Given the description of an element on the screen output the (x, y) to click on. 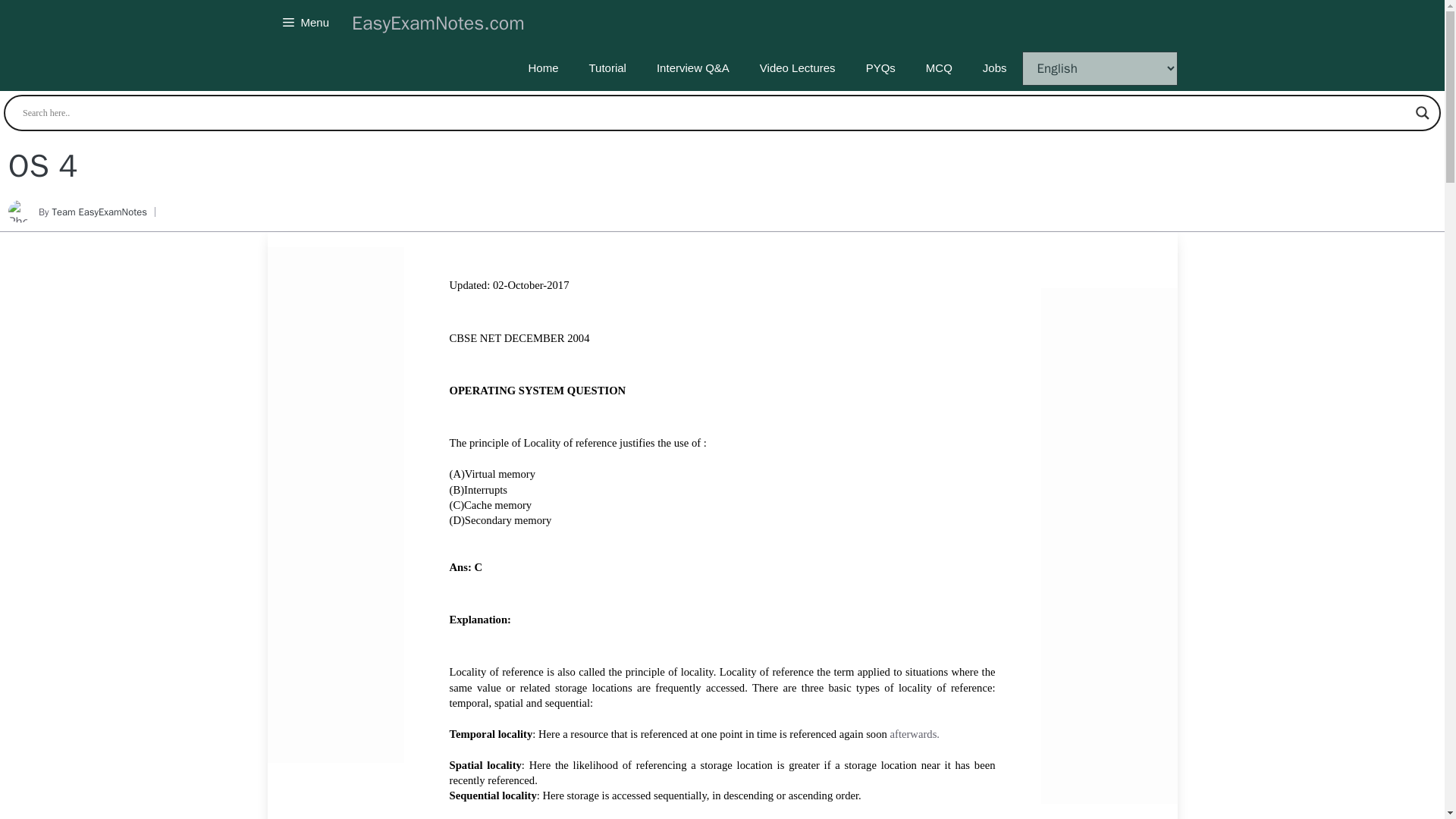
MCQ (939, 67)
Menu (304, 22)
EasyExamNotes.com (438, 21)
PYQs (880, 67)
Video Lectures (797, 67)
Team EasyExamNotes (98, 211)
Jobs (995, 67)
Tutorial (606, 67)
Home (542, 67)
